Given the description of an element on the screen output the (x, y) to click on. 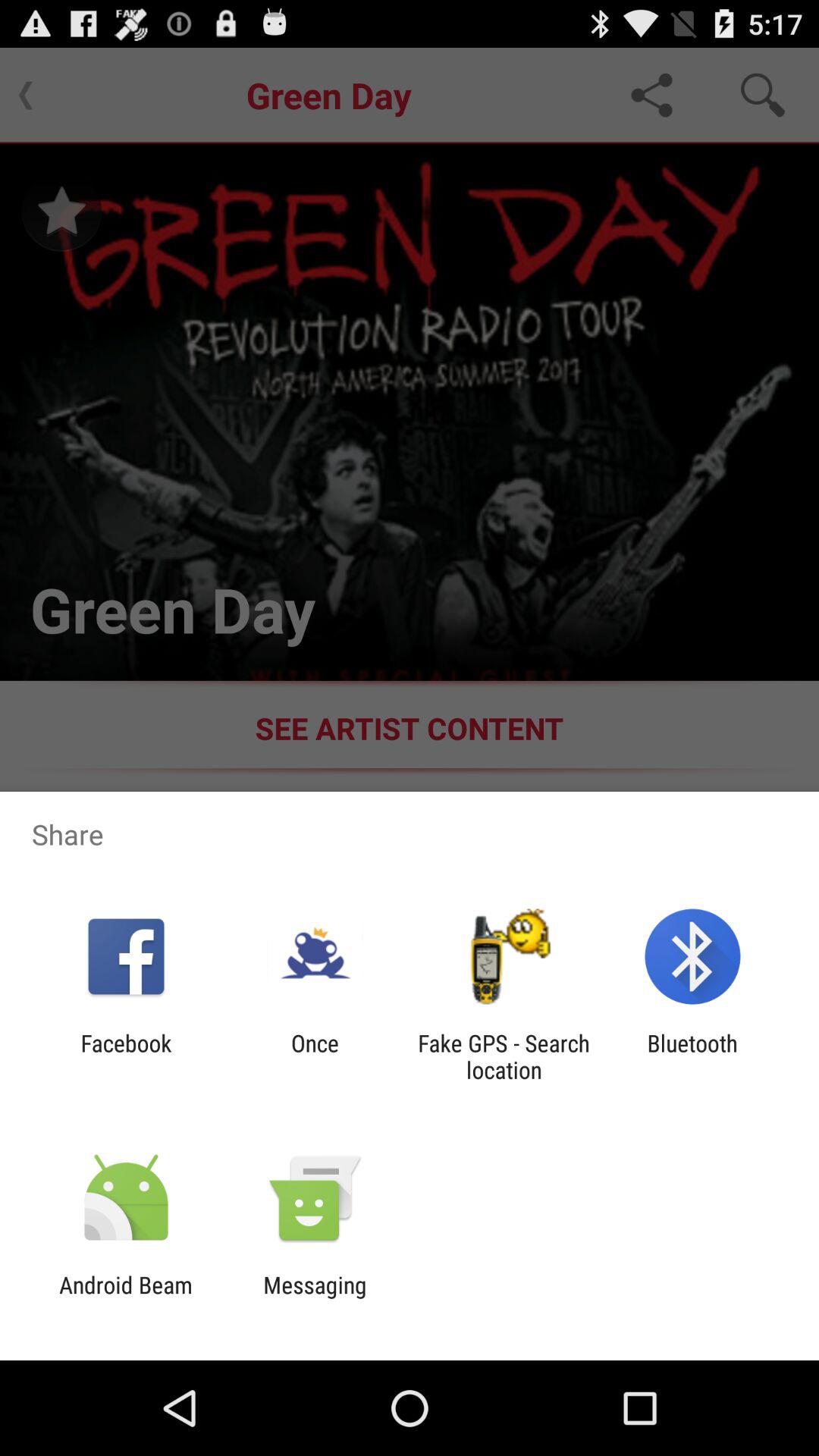
turn off item to the right of the facebook app (314, 1056)
